Given the description of an element on the screen output the (x, y) to click on. 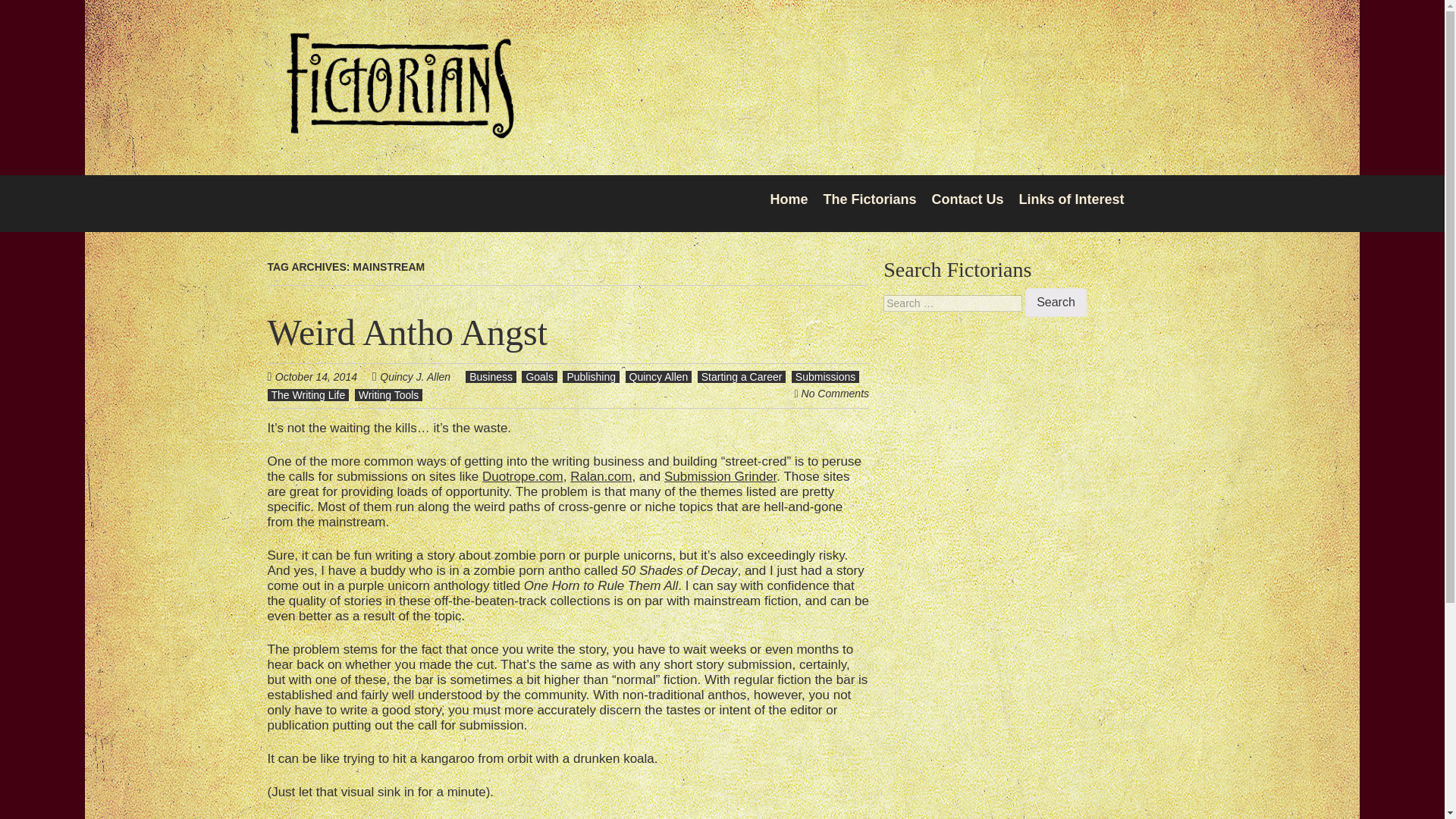
Search (1055, 302)
The Writing Life (307, 395)
Writing Tools (389, 395)
Search (1055, 302)
Quincy Allen (657, 377)
October 14, 2014 (323, 376)
The Fictorians (399, 129)
No Comments (835, 393)
Starting a Career (741, 377)
Links of Interest (1070, 199)
